Given the description of an element on the screen output the (x, y) to click on. 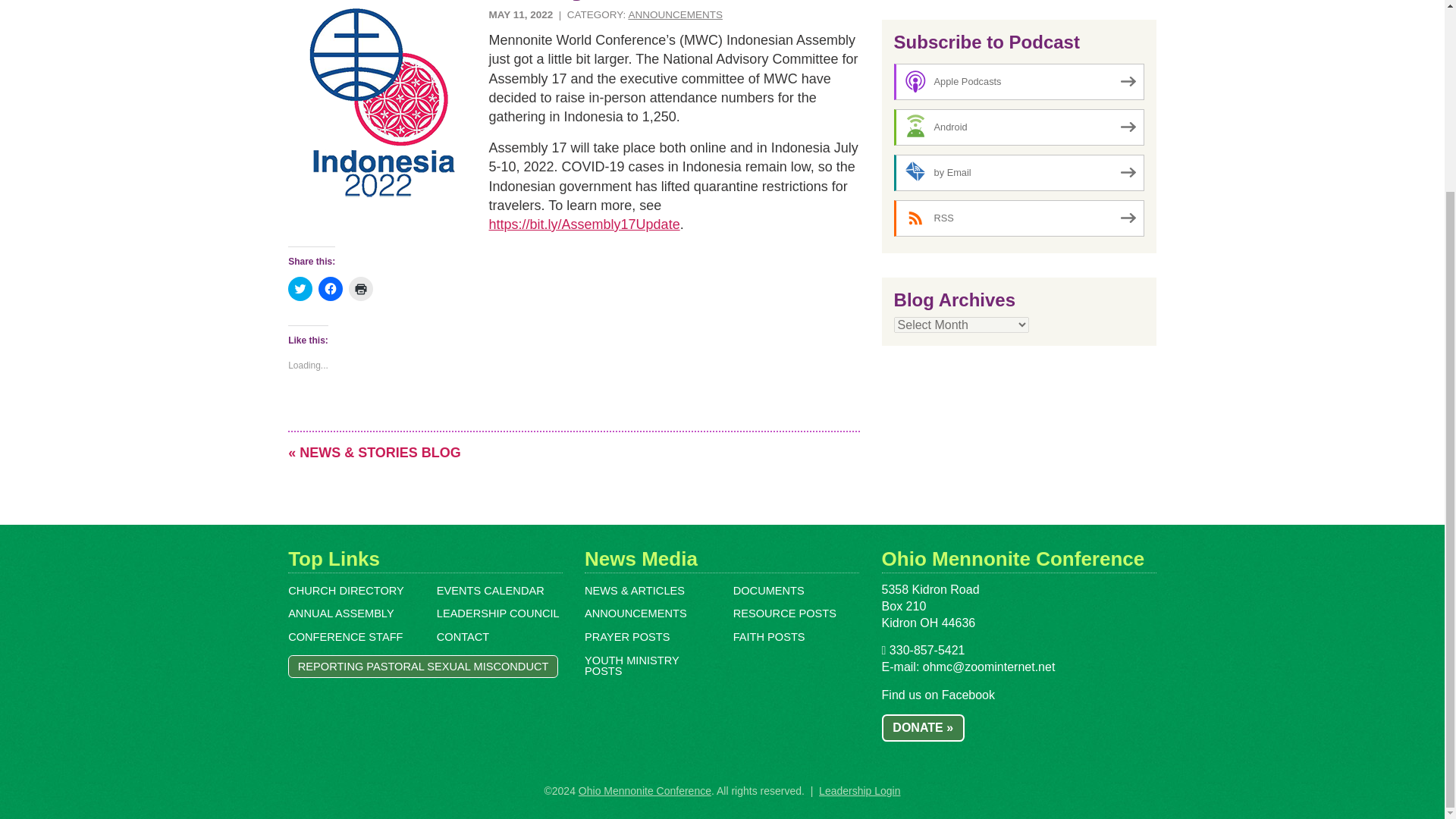
Subscribe on Android (1018, 126)
Click to share on Twitter (300, 288)
Click to share on Facebook (330, 288)
Subscribe on Apple Podcasts (1018, 81)
Subscribe via RSS (1018, 217)
Click to print (360, 288)
Ohio Mennonite Conference (644, 790)
Larger group can attend MWC Assembly 17 (382, 103)
Subscribe by Email (1018, 172)
